Given the description of an element on the screen output the (x, y) to click on. 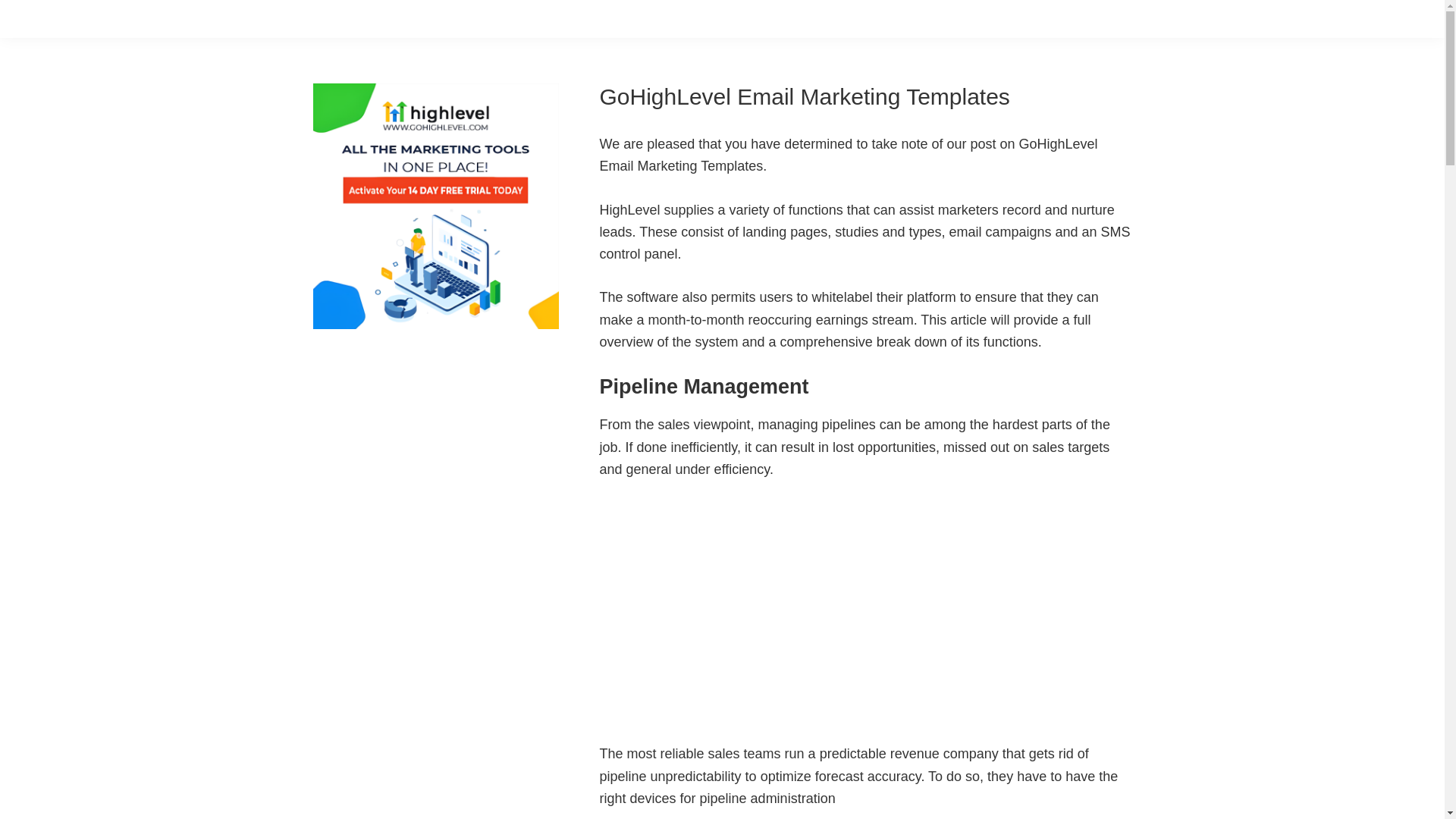
Video 2 - Quick Tour (788, 608)
